Given the description of an element on the screen output the (x, y) to click on. 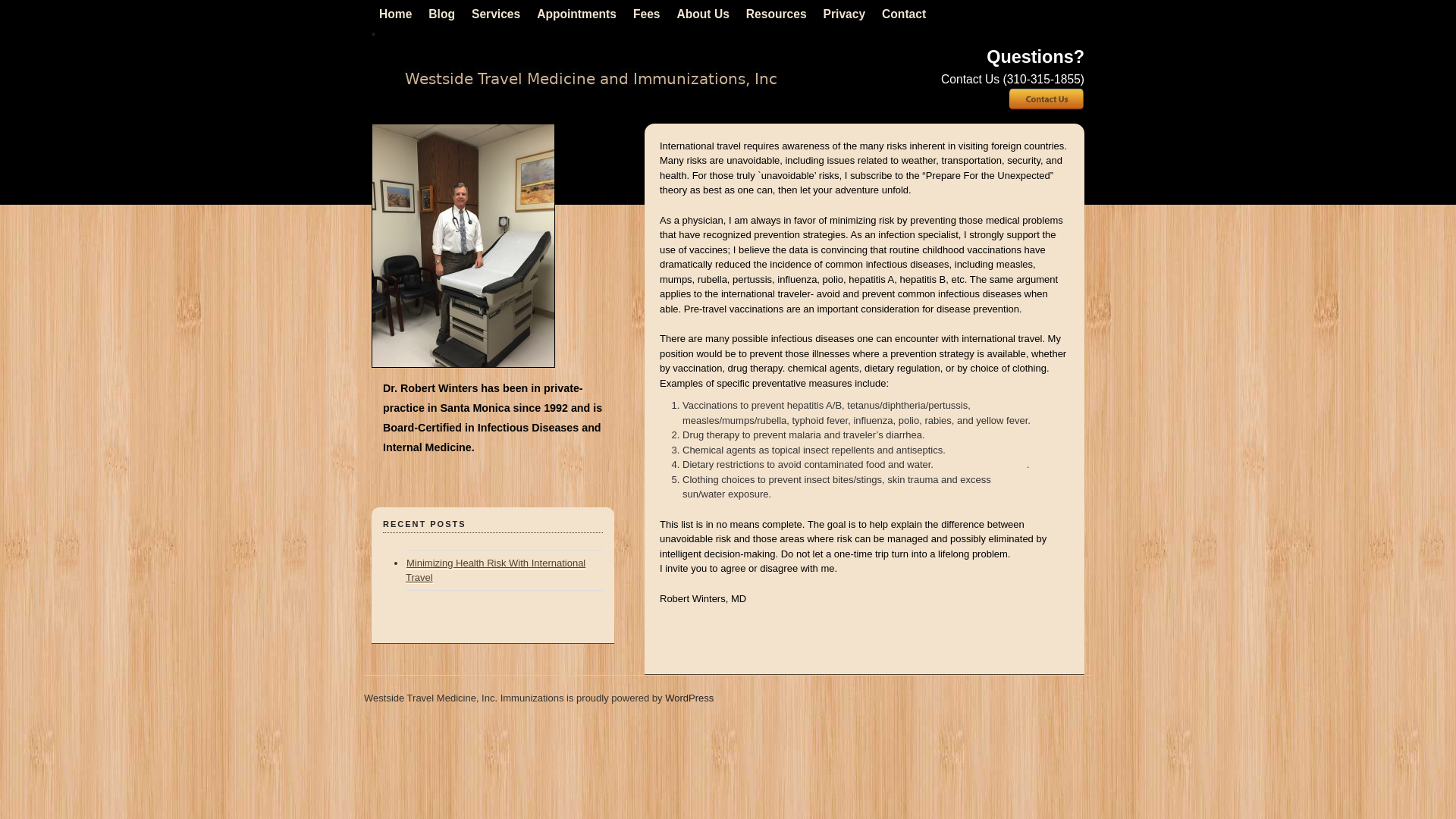
Privacy (844, 14)
Appointments (576, 14)
Contact (904, 14)
Services (495, 14)
Fees (647, 14)
Resources (775, 14)
About Us (702, 14)
Minimizing Health Risk With International Travel (495, 570)
WordPress (689, 697)
Home (395, 14)
Blog (441, 14)
